Given the description of an element on the screen output the (x, y) to click on. 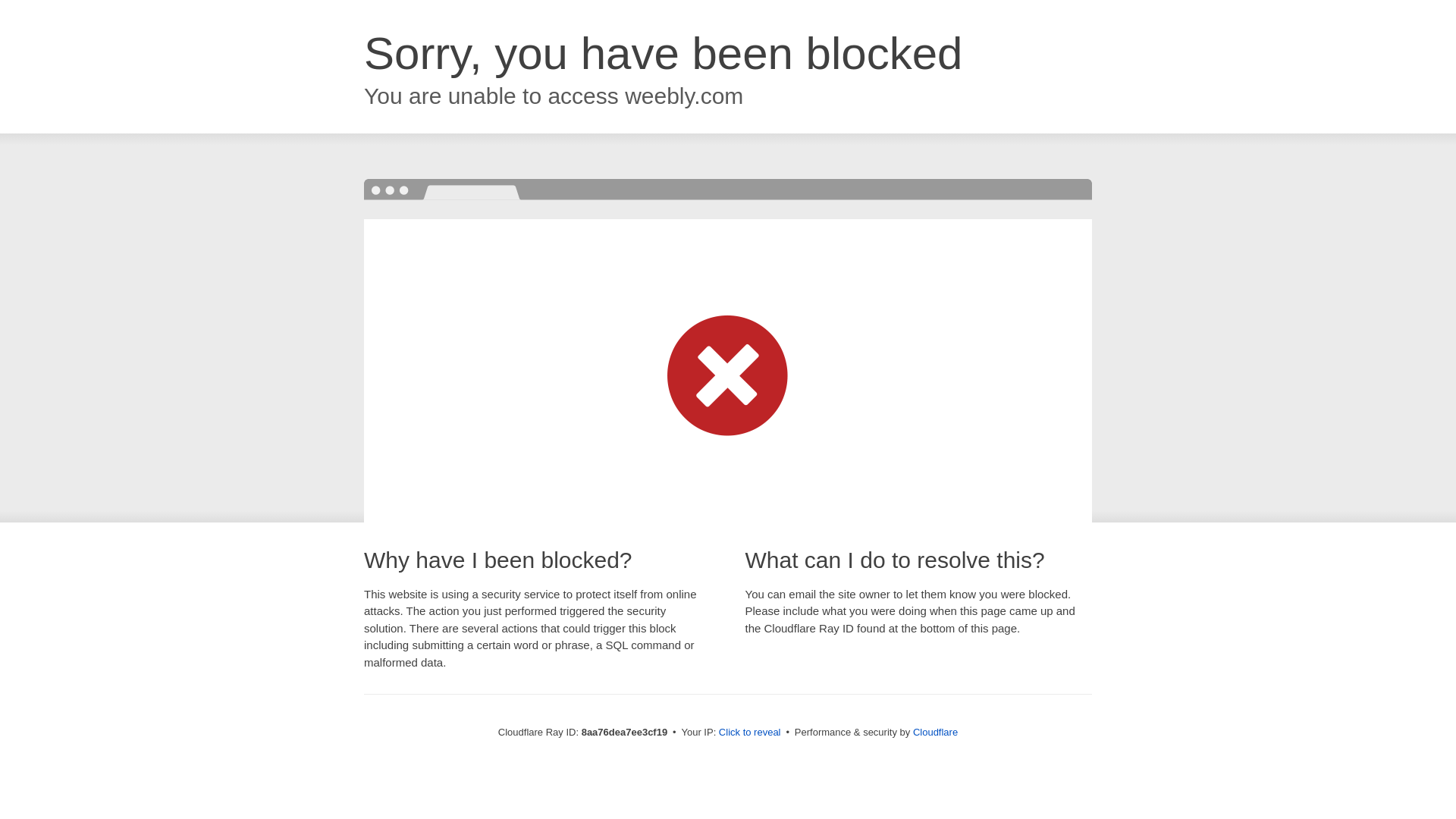
Click to reveal (749, 732)
Cloudflare (935, 731)
